Given the description of an element on the screen output the (x, y) to click on. 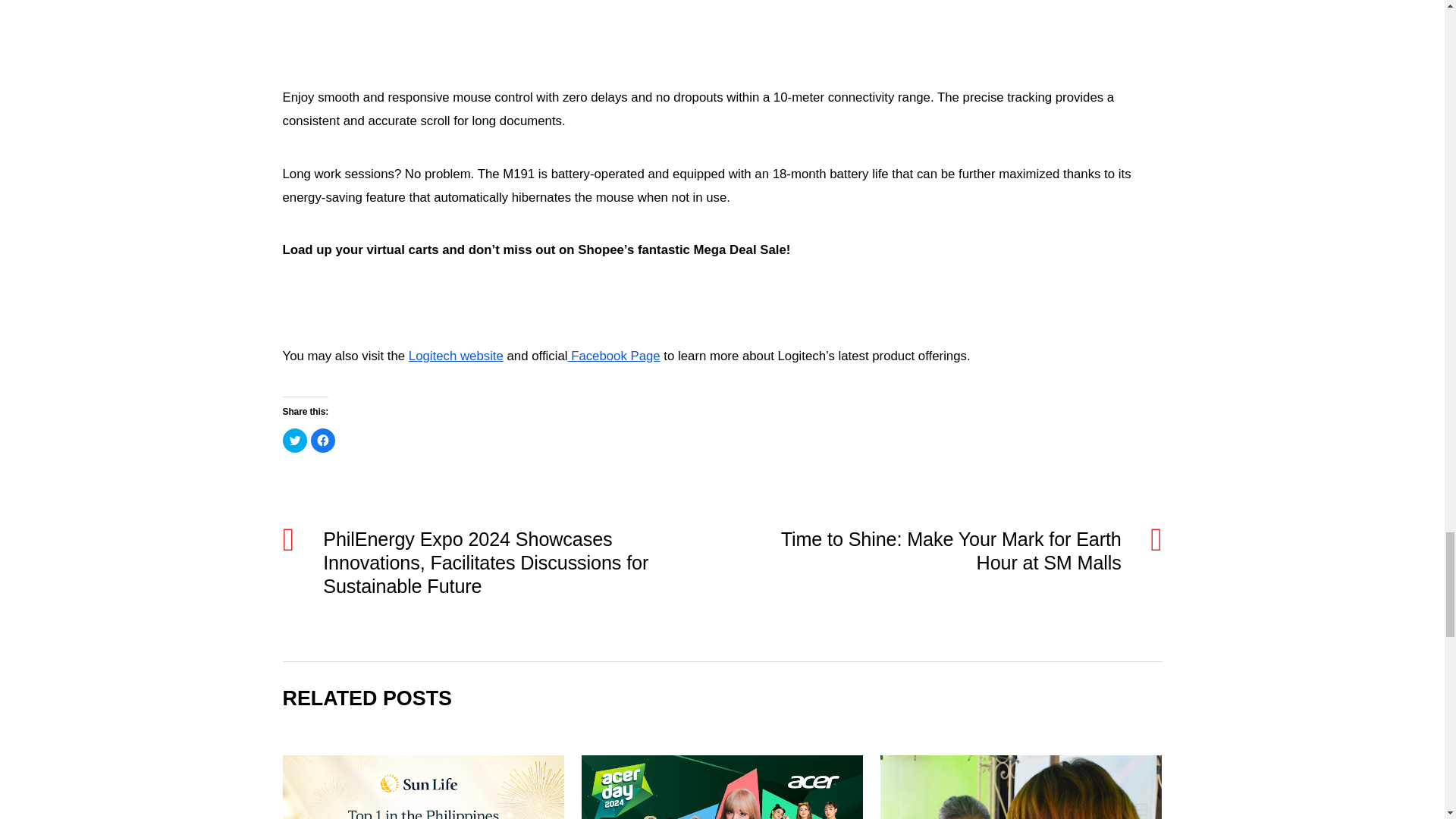
Click to share on Facebook (322, 440)
Time to Shine: Make Your Mark for Earth Hour at SM Malls (934, 550)
 Facebook Page (613, 355)
Logitech website (456, 355)
Click to share on Twitter (293, 440)
